Given the description of an element on the screen output the (x, y) to click on. 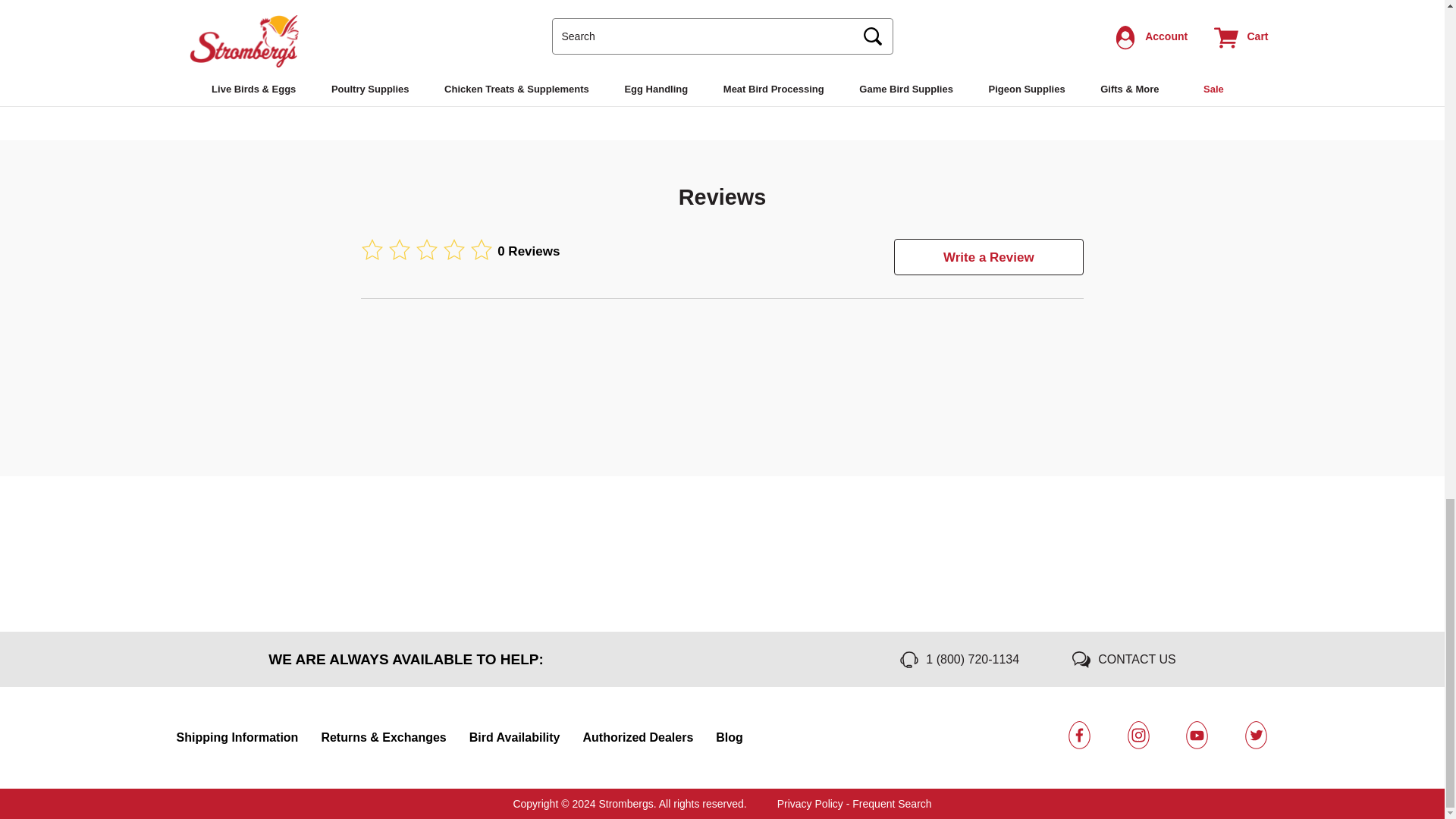
View our facebook. Opens in a new window. (1079, 735)
View our youtube. Opens in a new window. (1197, 735)
View our twitter. Opens in a new window. (1255, 735)
View our instagram. Opens in a new window. (1138, 735)
